Given the description of an element on the screen output the (x, y) to click on. 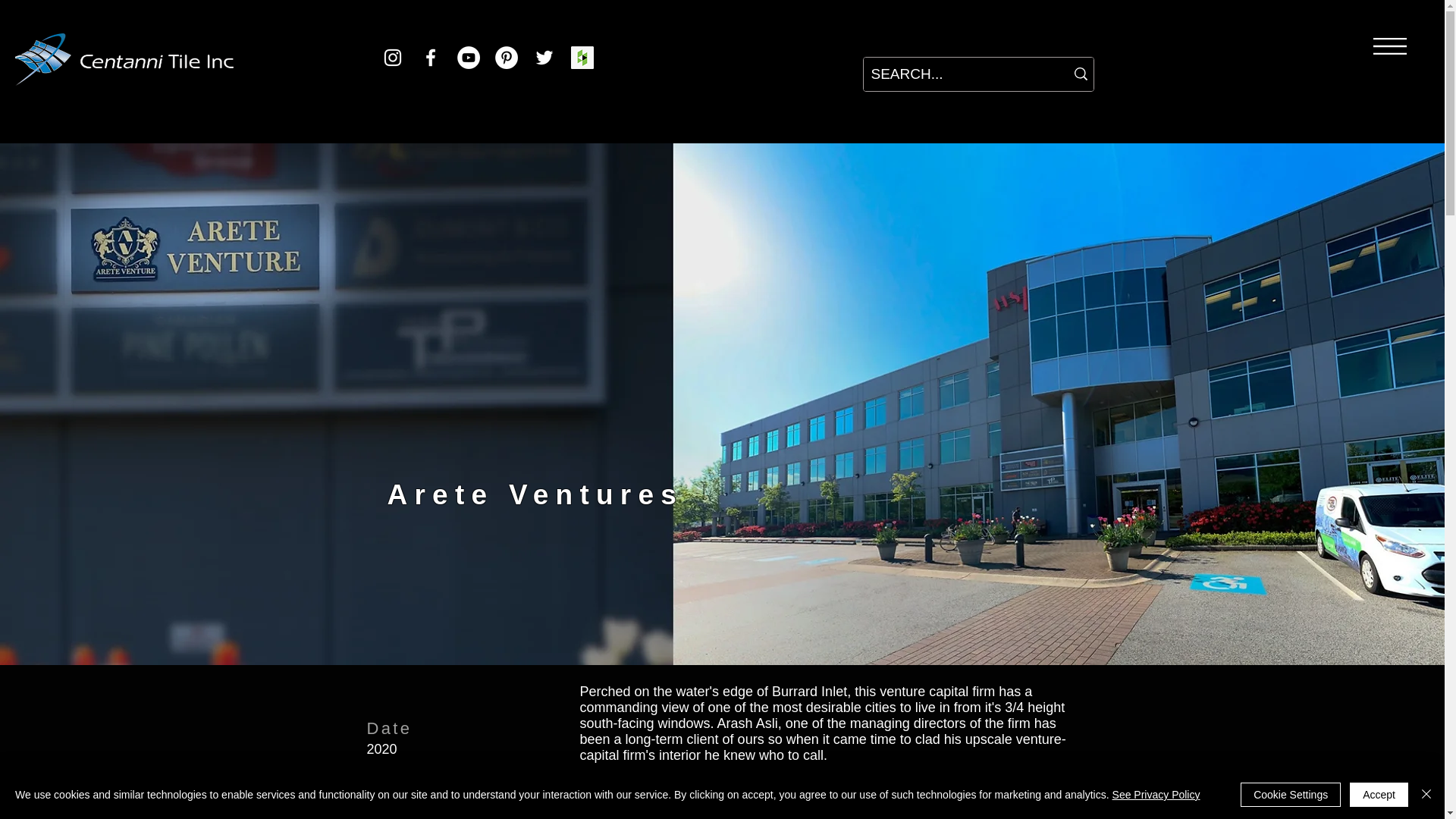
Accept (1378, 794)
Cookie Settings (1290, 794)
See Privacy Policy (1155, 794)
Return HOME (123, 59)
